Given the description of an element on the screen output the (x, y) to click on. 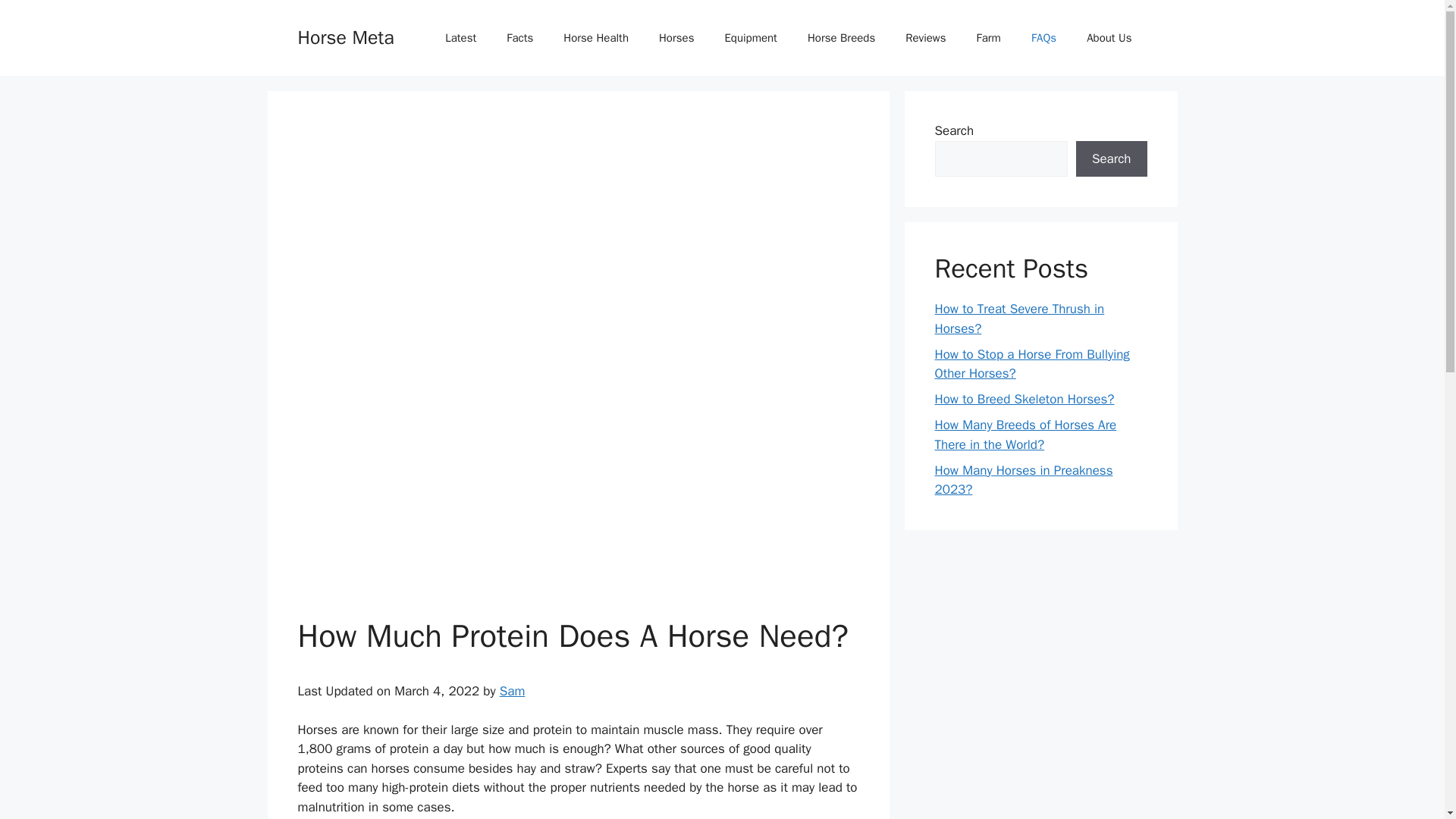
How Many Breeds of Horses Are There in the World? (1025, 434)
About Us (1109, 37)
Sam (512, 691)
How Many Horses in Preakness 2023? (1023, 479)
Horse Breeds (840, 37)
Search (1111, 158)
Horse Meta (345, 37)
Latest (460, 37)
Farm (988, 37)
Facts (520, 37)
How to Treat Severe Thrush in Horses? (1018, 318)
Equipment (750, 37)
How to Breed Skeleton Horses? (1023, 399)
Horse Health (595, 37)
Reviews (924, 37)
